Given the description of an element on the screen output the (x, y) to click on. 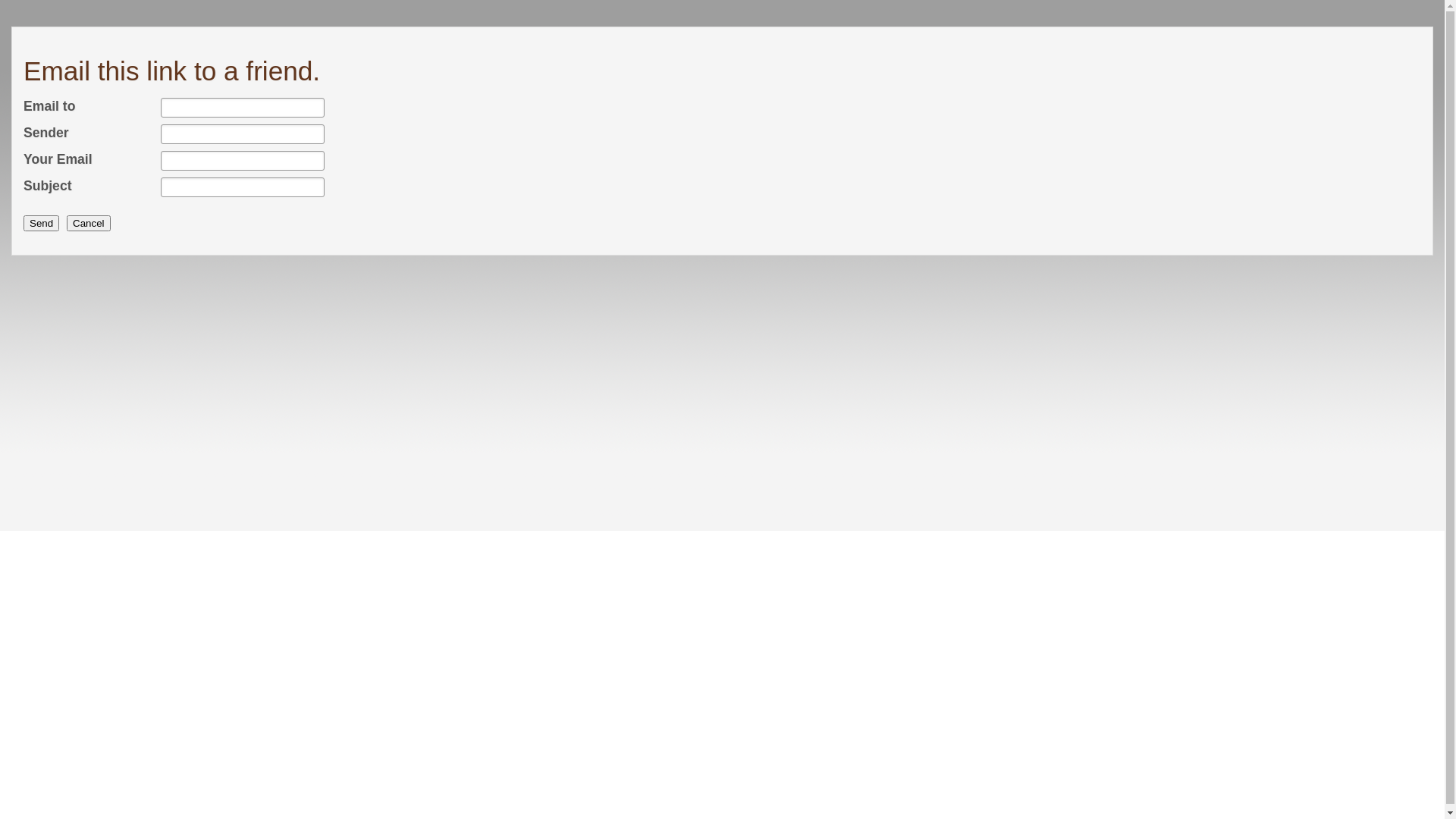
Cancel Element type: text (88, 223)
Send Element type: text (41, 223)
Close Window Element type: hover (1422, 40)
